Given the description of an element on the screen output the (x, y) to click on. 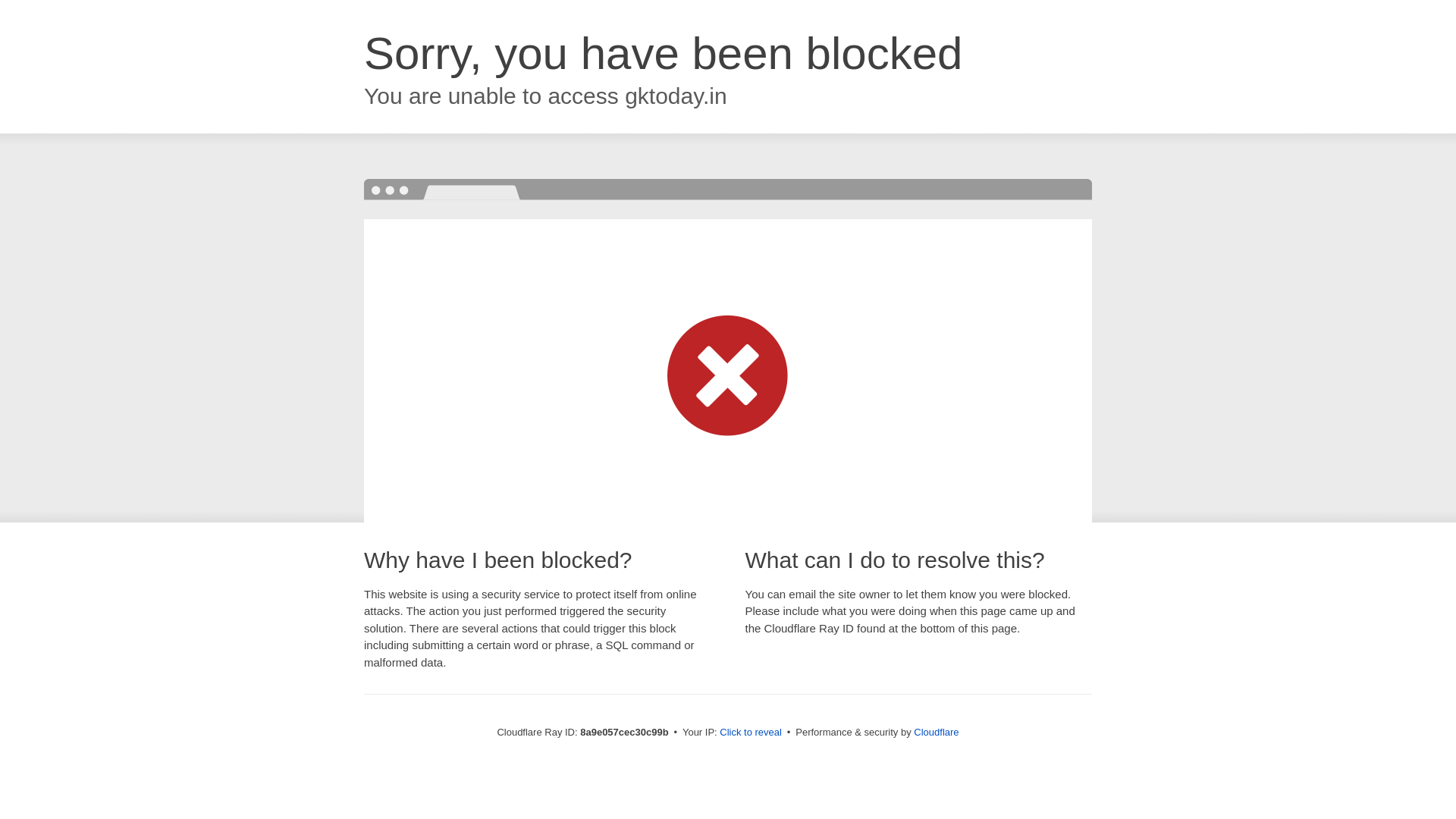
Click to reveal (750, 732)
Cloudflare (936, 731)
